Given the description of an element on the screen output the (x, y) to click on. 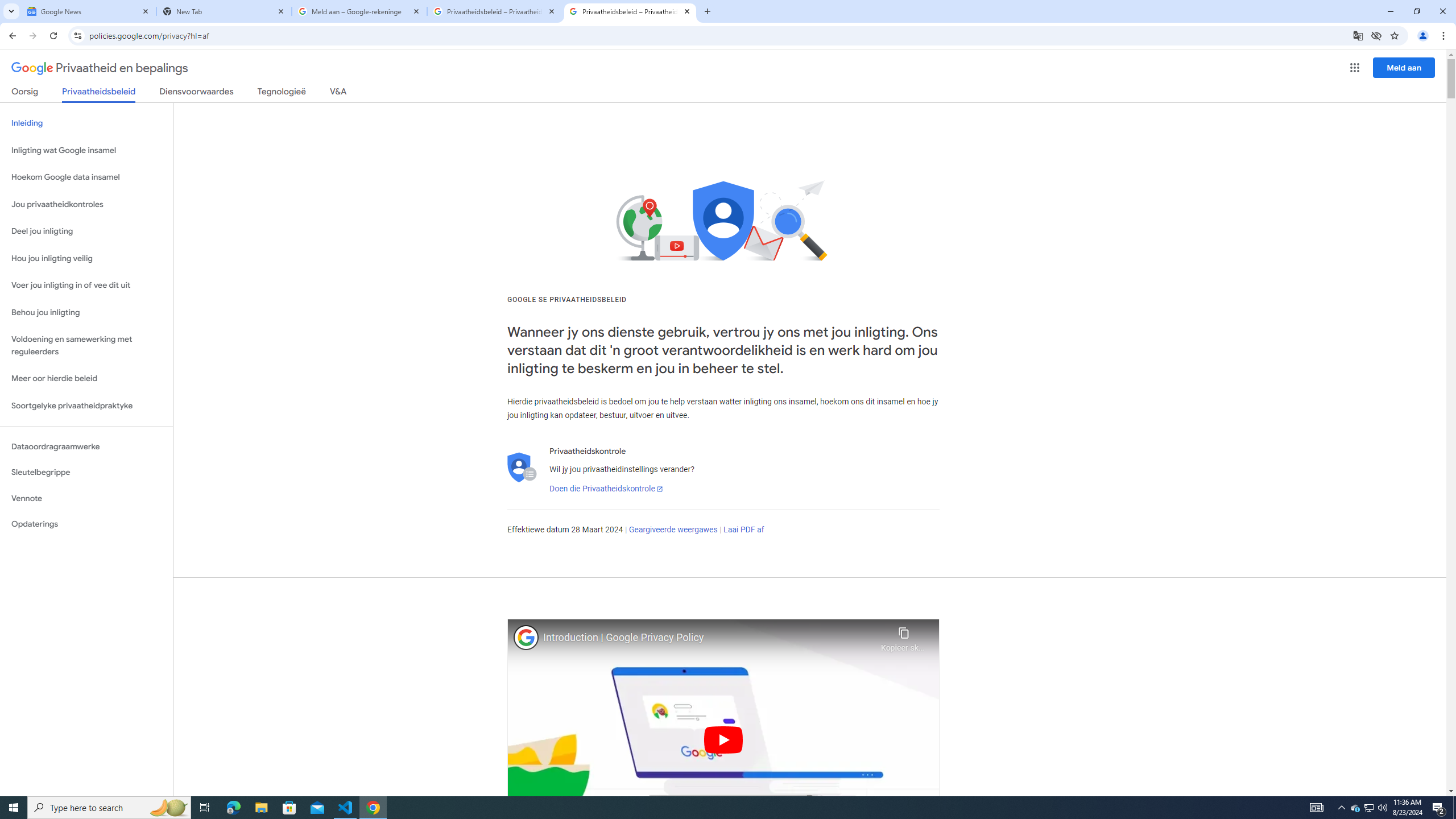
Reading speed (776, 202)
Footnote and Endnote Dialog... (326, 128)
Next Footnote (272, 91)
Update Table... (115, 91)
Insert Caption... (574, 92)
